Given the description of an element on the screen output the (x, y) to click on. 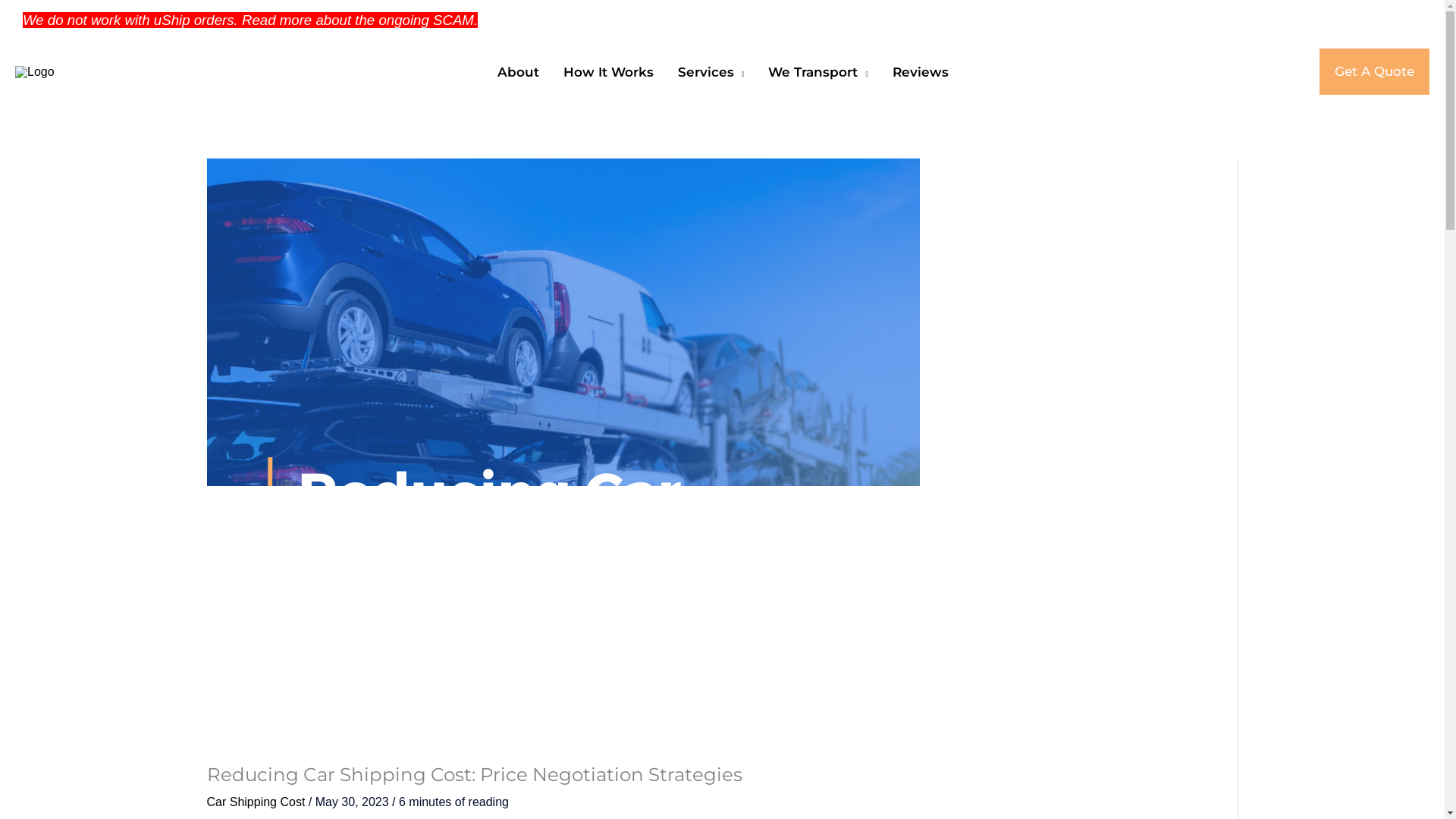
How It Works (607, 71)
Help (1204, 20)
We Transport (817, 71)
Services (710, 71)
Blog (1157, 20)
Get A Quote (1374, 71)
Contact Us (1268, 20)
Reviews (919, 71)
